Given the description of an element on the screen output the (x, y) to click on. 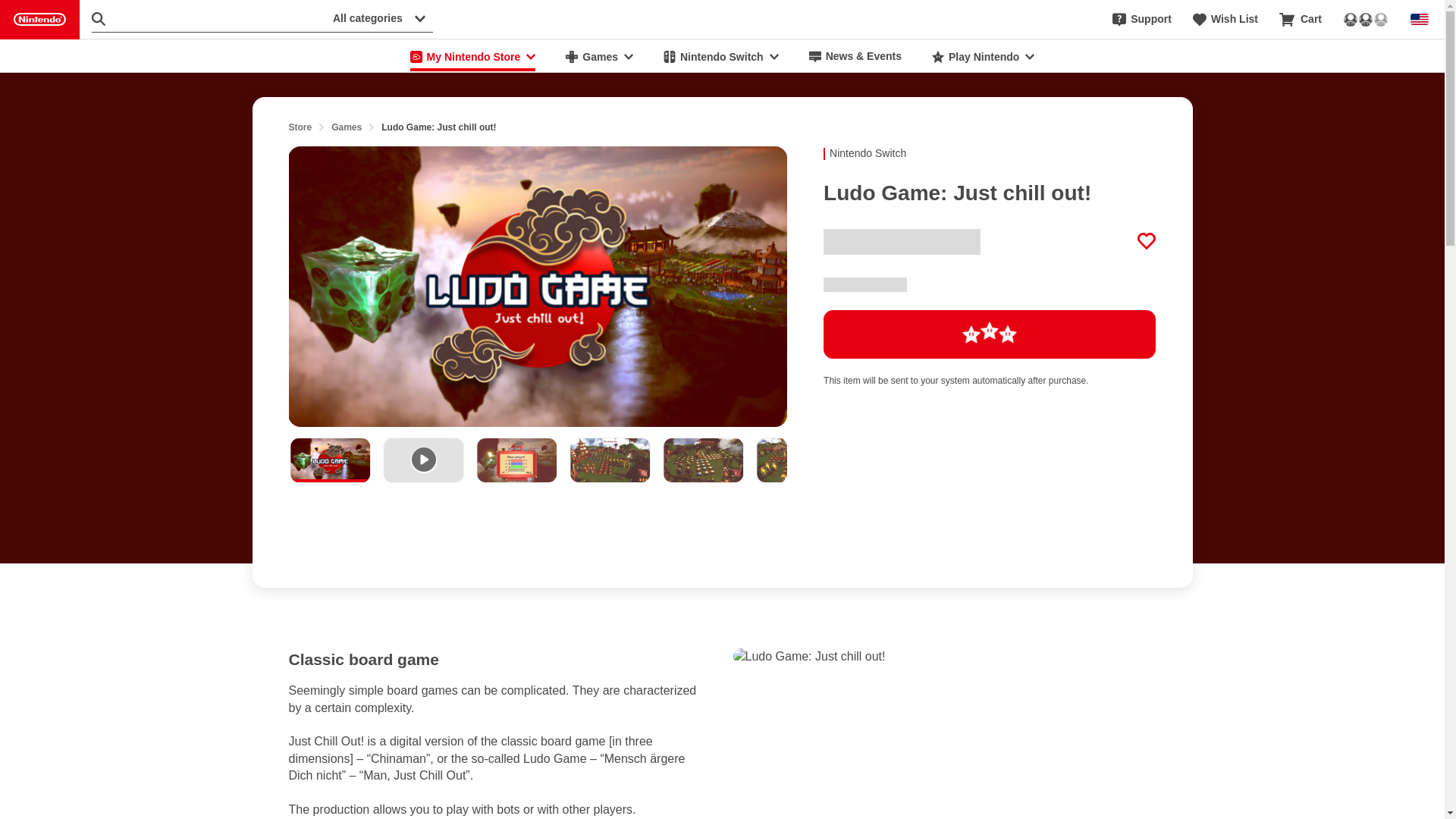
Cart (1300, 19)
Games (599, 56)
Loading (990, 334)
Nintendo Switch (720, 56)
Store (299, 127)
Games (346, 127)
Nintendo (40, 19)
Play Nintendo (983, 56)
Add to Wish List (1146, 240)
My Nintendo Store (472, 56)
